Given the description of an element on the screen output the (x, y) to click on. 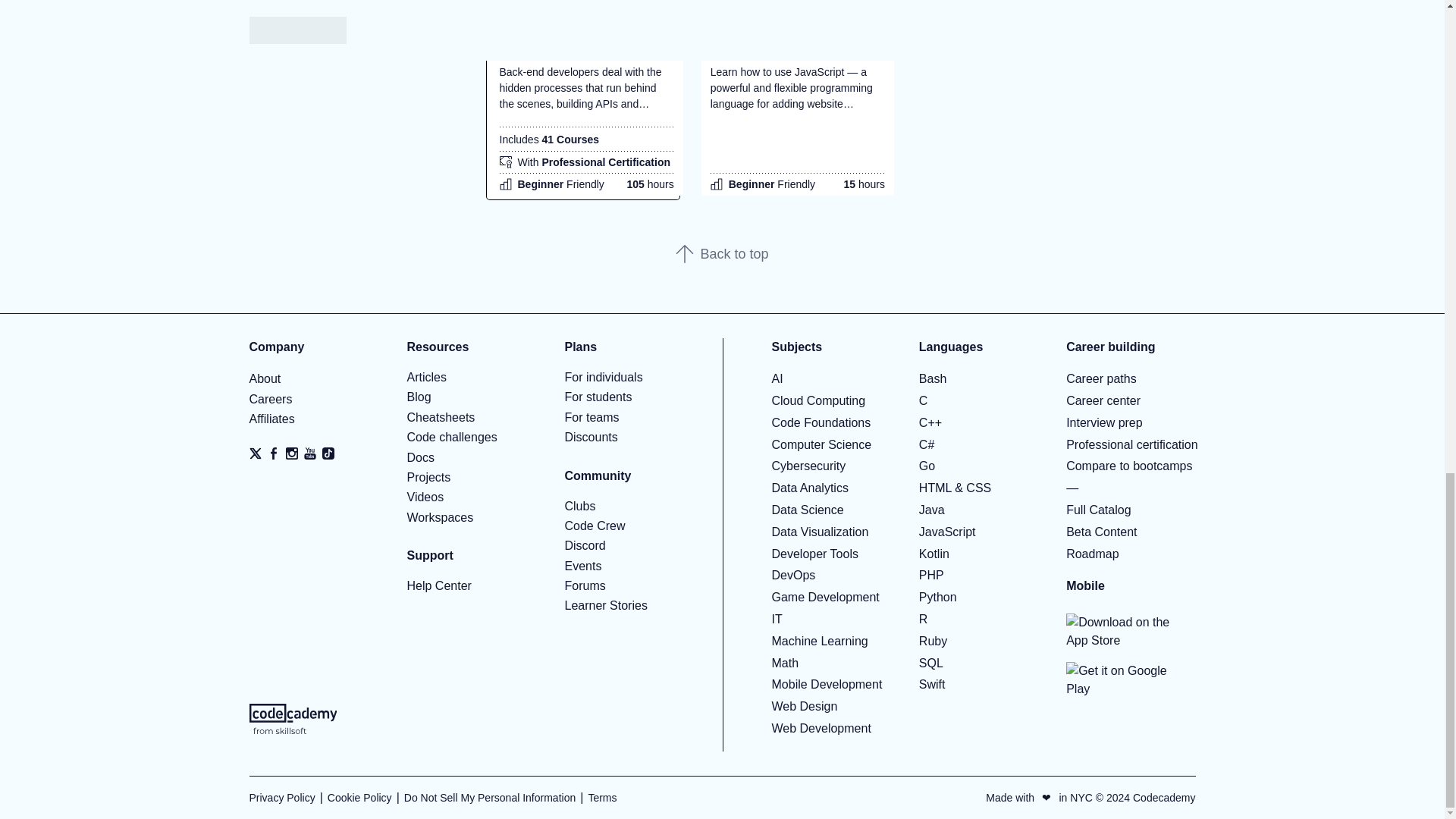
Codecademy from Skillsoft (292, 718)
Framework (354, 35)
Front-End (354, 65)
Function (354, 126)
Full-Stack (354, 95)
Flutter (354, 7)
